Given the description of an element on the screen output the (x, y) to click on. 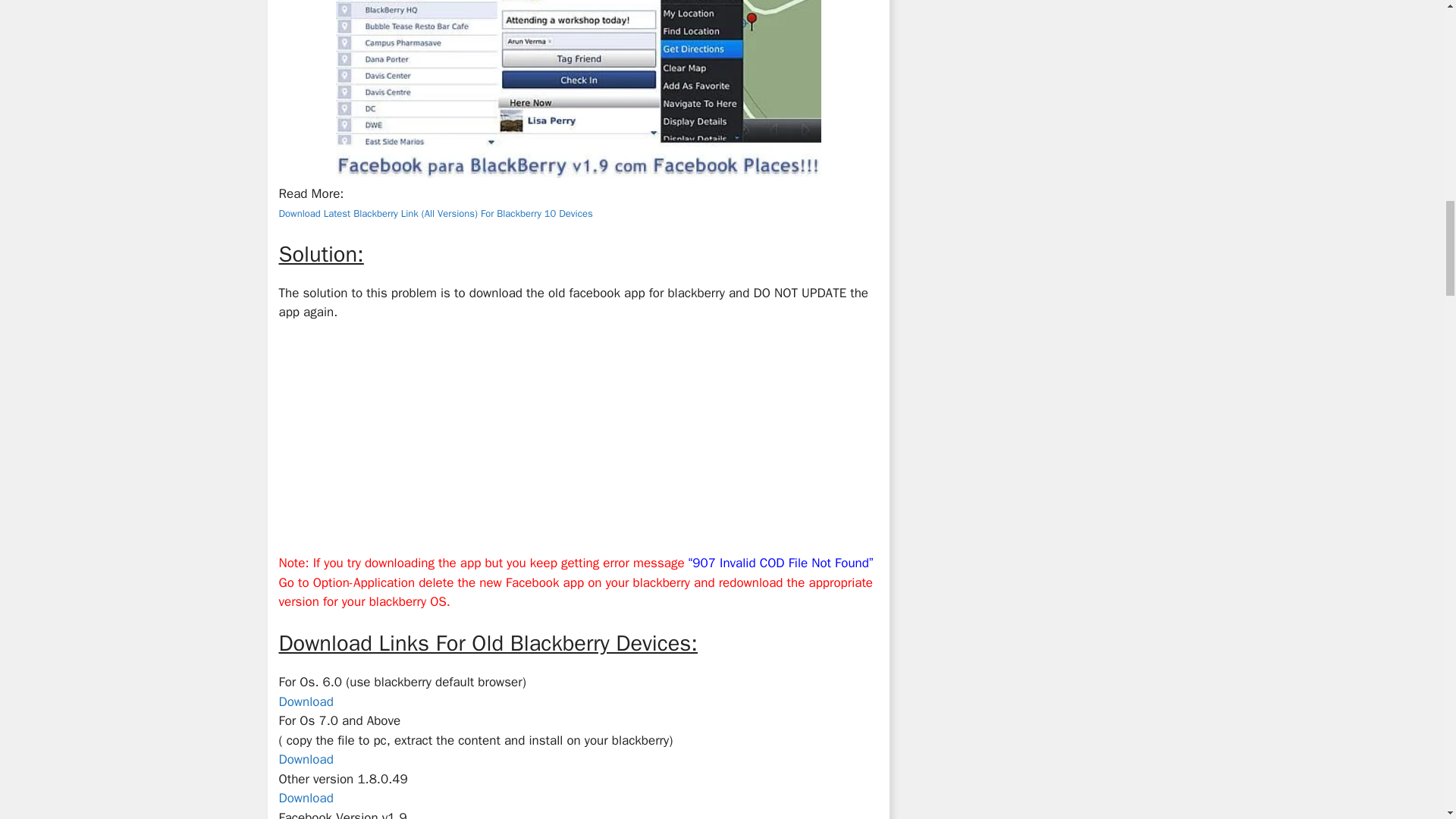
Download (306, 759)
Download (306, 797)
Download (306, 701)
